Given the description of an element on the screen output the (x, y) to click on. 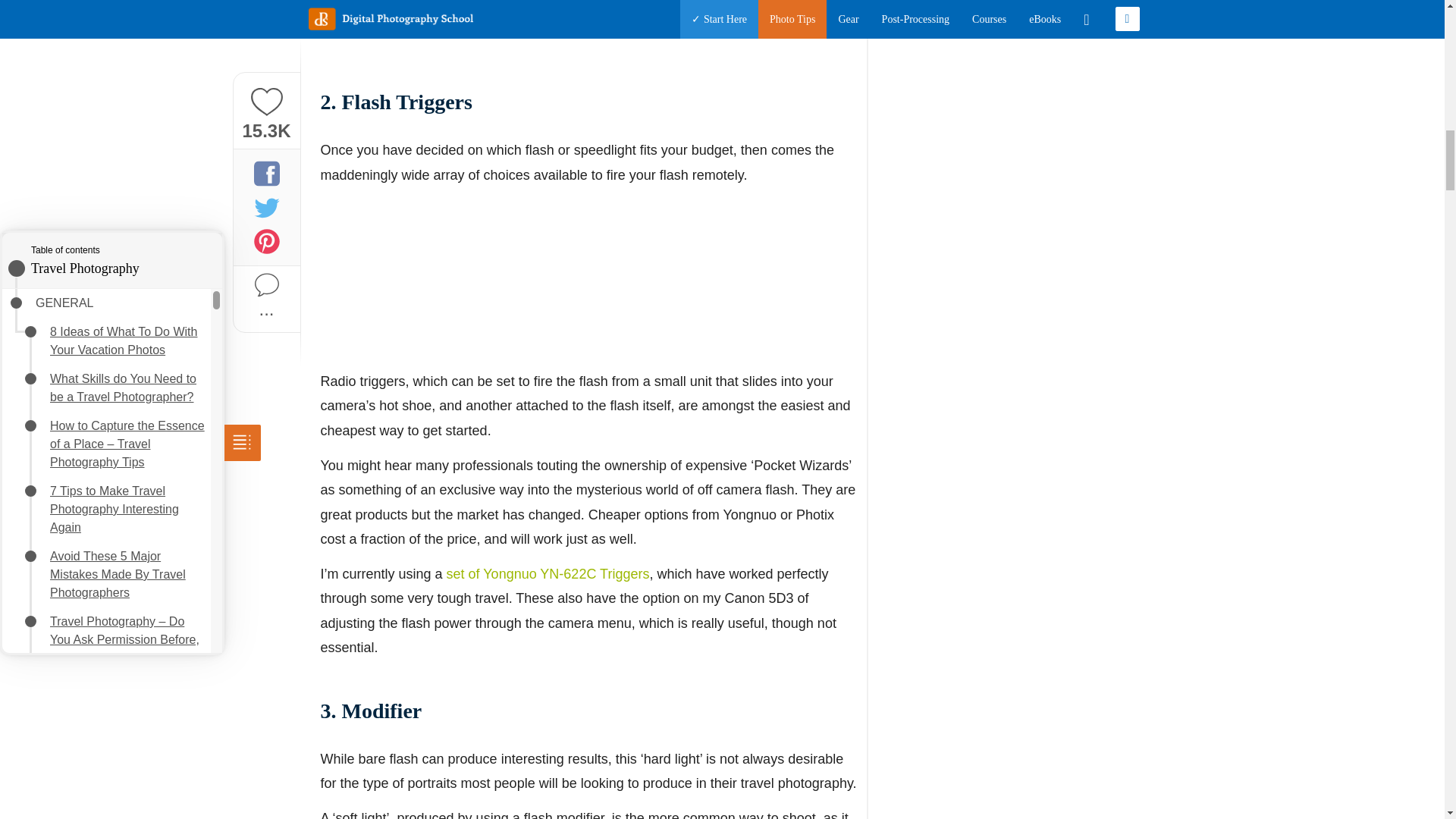
1. Flash gun or speedlight (133, 155)
Gear for Off Camera Flash Travel Photography (133, 124)
2. Flash Triggers (109, 176)
6. ND filter (92, 261)
5. Flash Gels (99, 240)
Shooting Off Camera Flash Travel Photography (133, 291)
4. Light Stand (101, 219)
3. Modifier (92, 197)
